Given the description of an element on the screen output the (x, y) to click on. 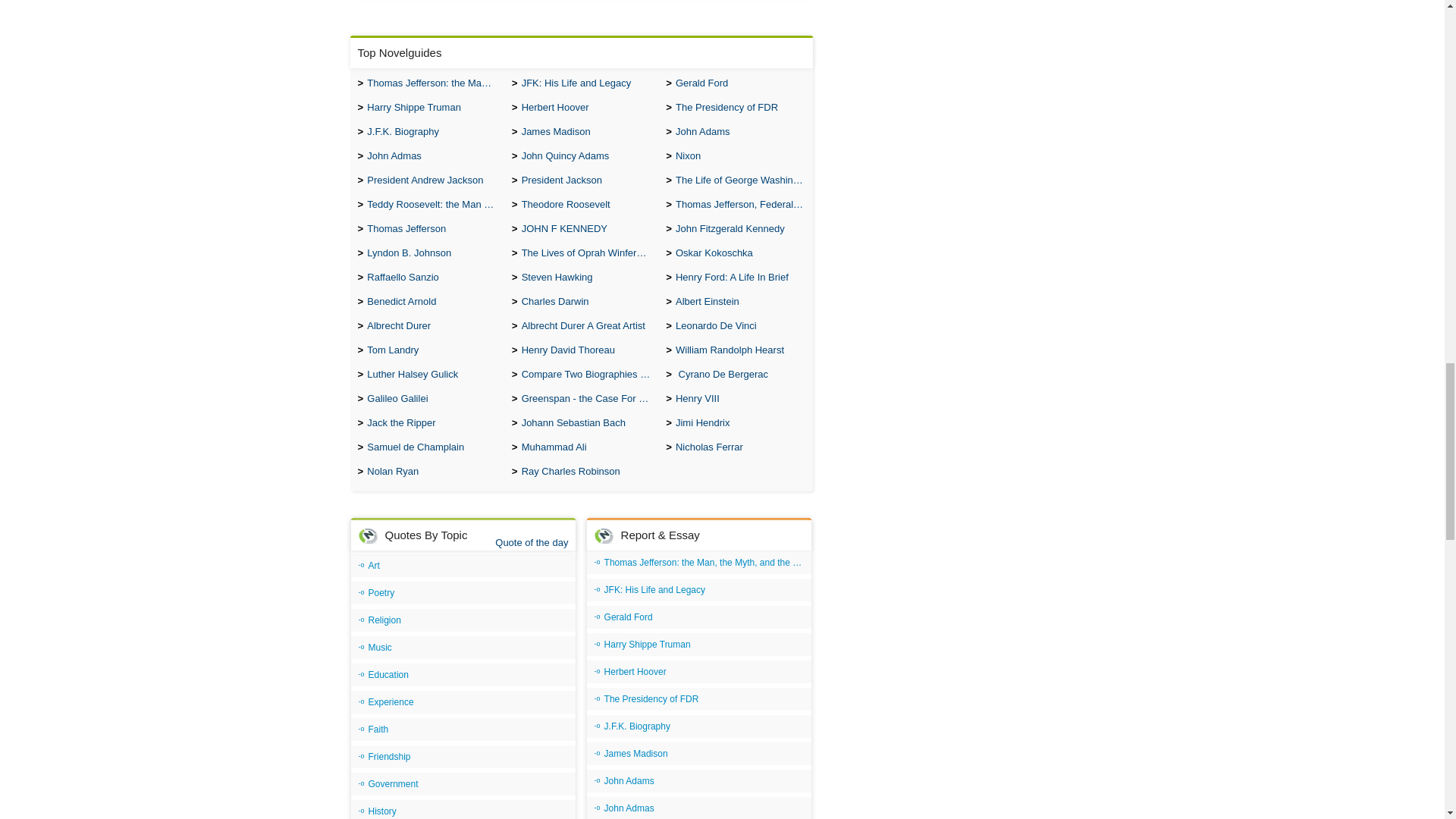
Quote of the day (531, 542)
Quotes on Art and Showbiz (462, 566)
Quotes on Poet and Poetry (462, 593)
